Given the description of an element on the screen output the (x, y) to click on. 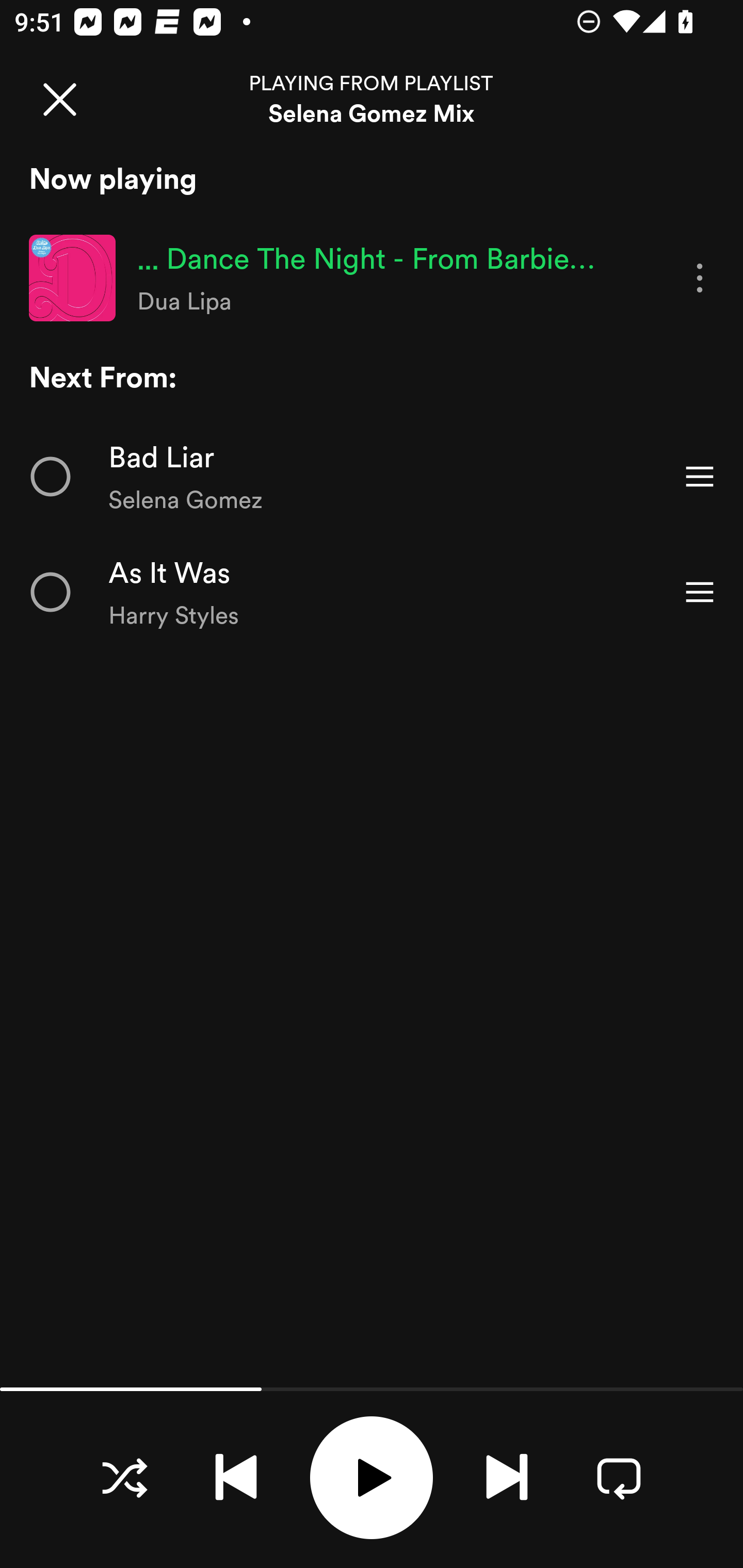
Close (59, 99)
PLAYING FROM PLAYLIST Selena Gomez Mix (371, 99)
Bad Liar Selena Gomez Reorder track (371, 476)
As It Was Harry Styles Reorder track (371, 591)
Play (371, 1477)
Previous (235, 1477)
Next (507, 1477)
Choose a Listening Mode (123, 1477)
Repeat (618, 1477)
